Given the description of an element on the screen output the (x, y) to click on. 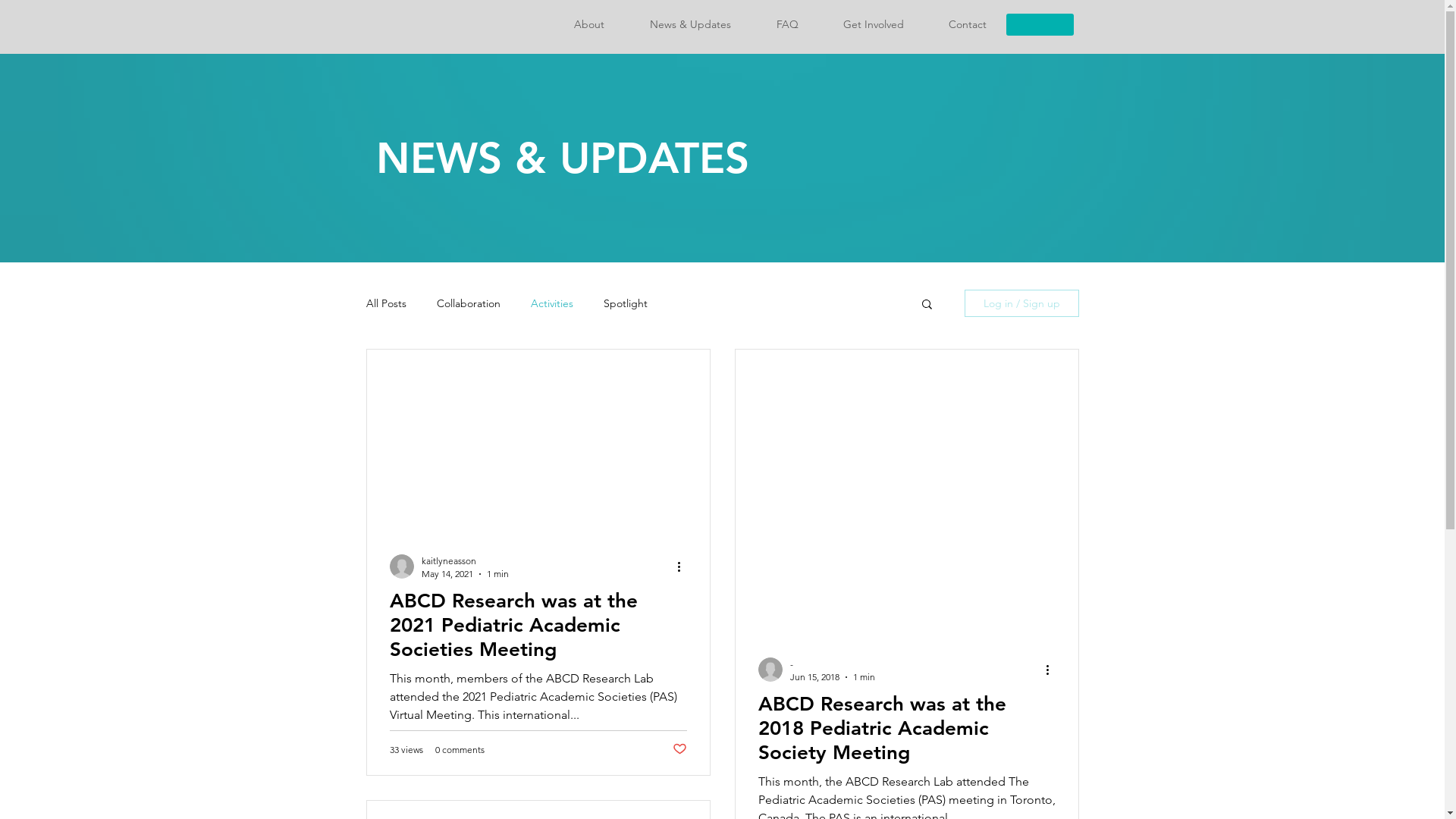
Collaboration Element type: text (468, 303)
abcd.researchlab@gmail.com Element type: text (711, 371)
FAQ Element type: text (786, 24)
Contact Element type: text (967, 24)
wix.com Element type: text (1036, 367)
About Element type: text (587, 24)
Spotlight Element type: text (622, 303)
Get Involved Element type: text (873, 24)
News & Updates Element type: text (689, 24)
All Posts Element type: text (385, 303)
Log in / Sign up Element type: text (1022, 302)
Activities Element type: text (550, 303)
